Given the description of an element on the screen output the (x, y) to click on. 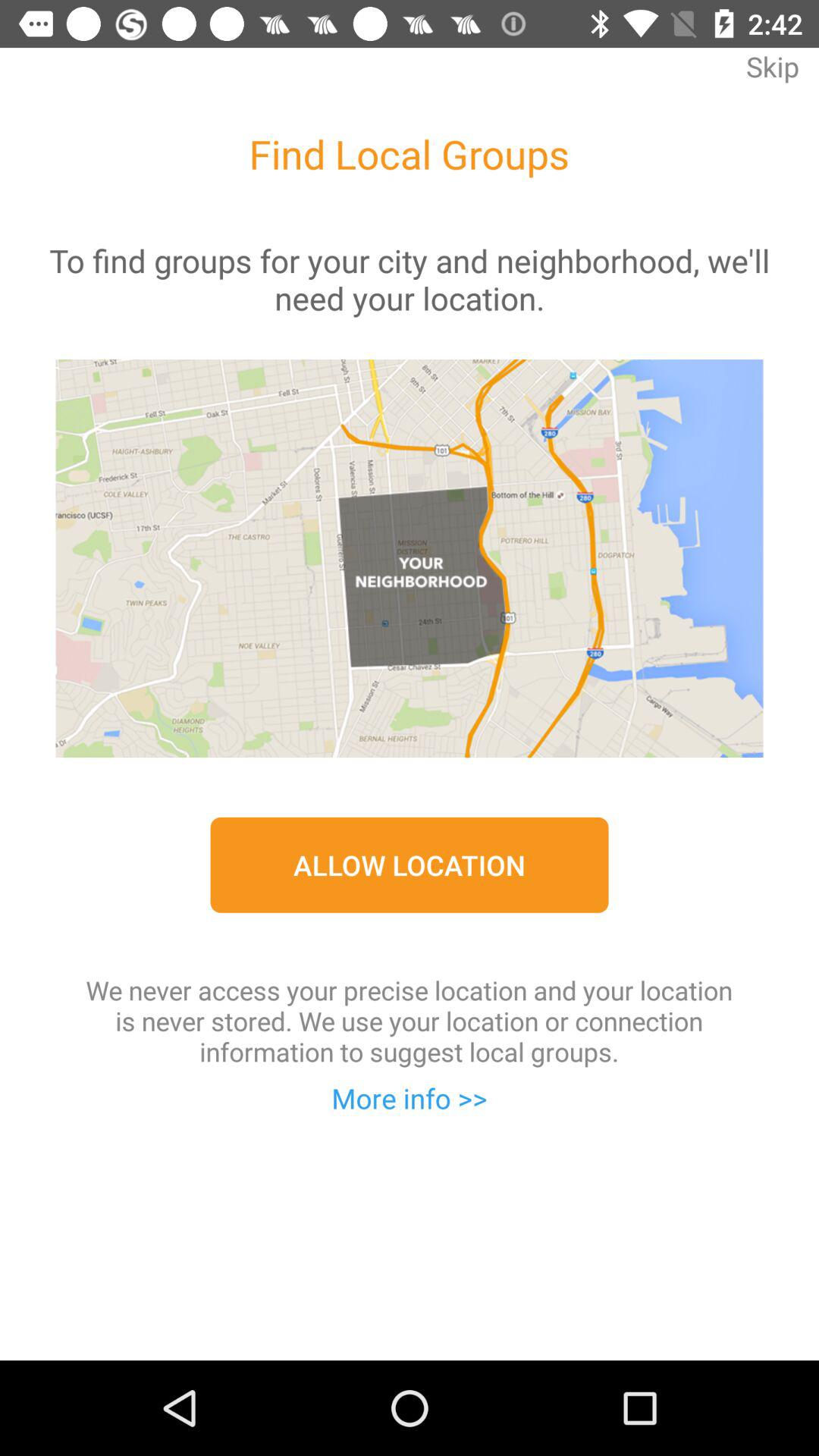
select the allow location icon (409, 864)
